Given the description of an element on the screen output the (x, y) to click on. 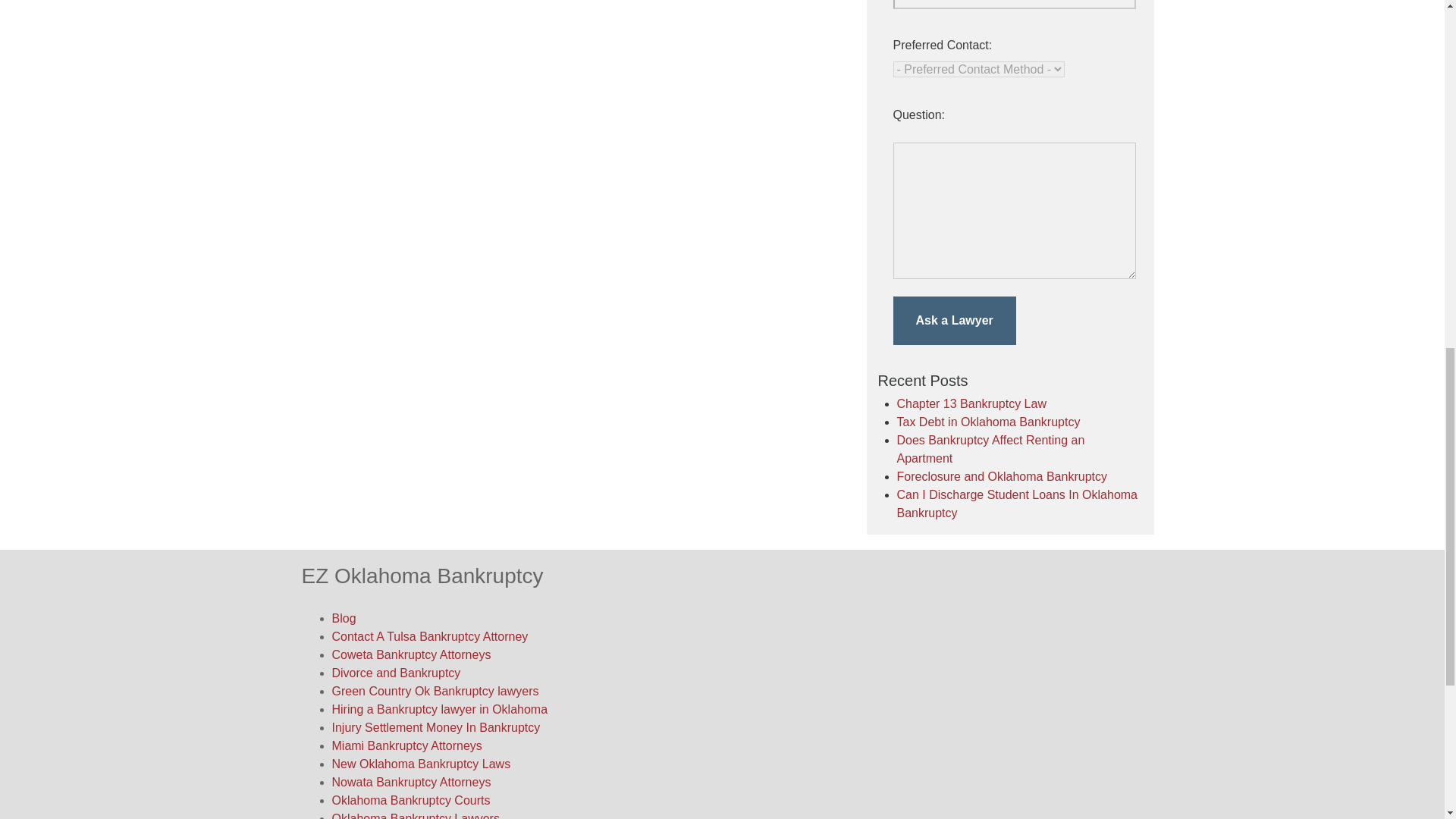
Ask a Lawyer (954, 320)
